Given the description of an element on the screen output the (x, y) to click on. 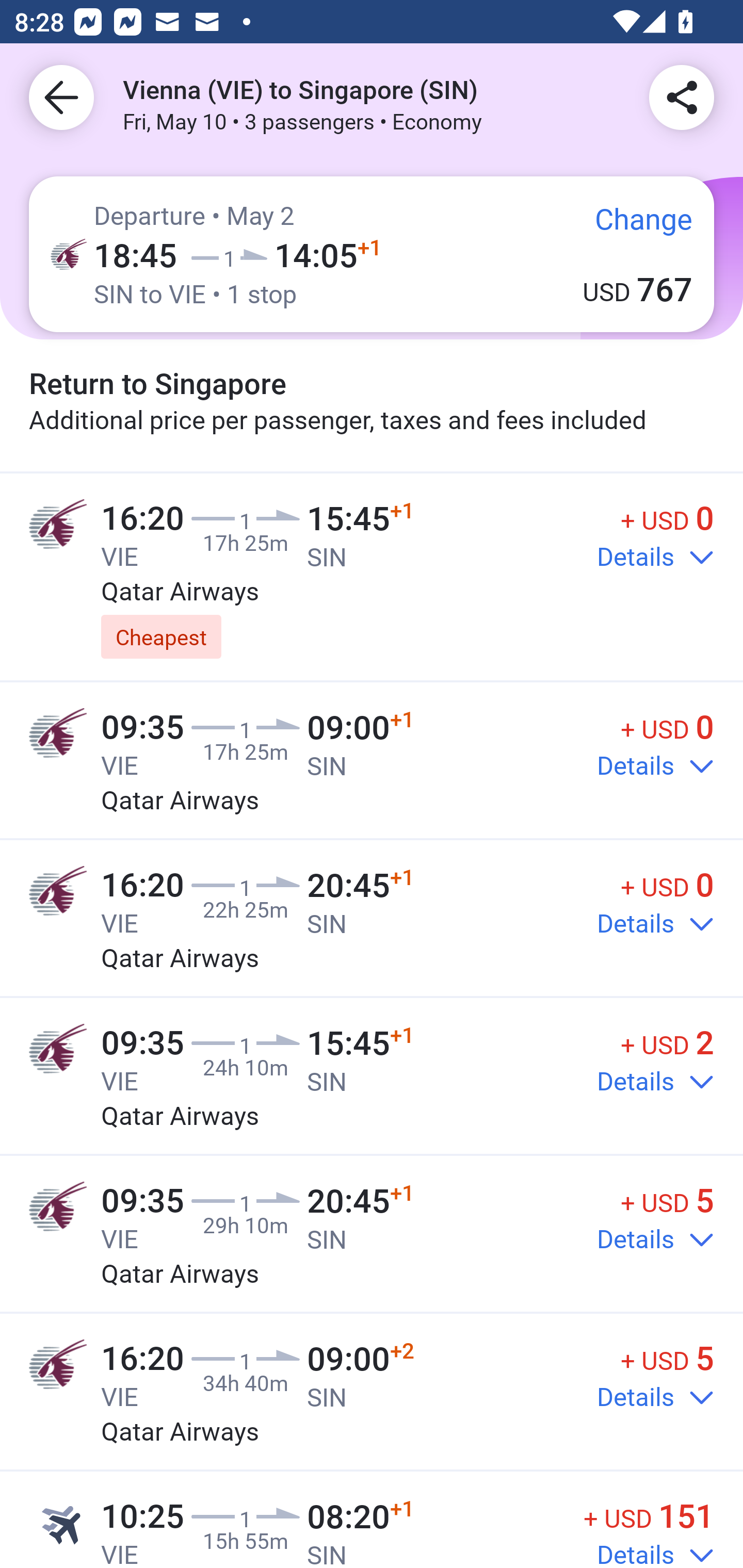
Change (629, 228)
